Given the description of an element on the screen output the (x, y) to click on. 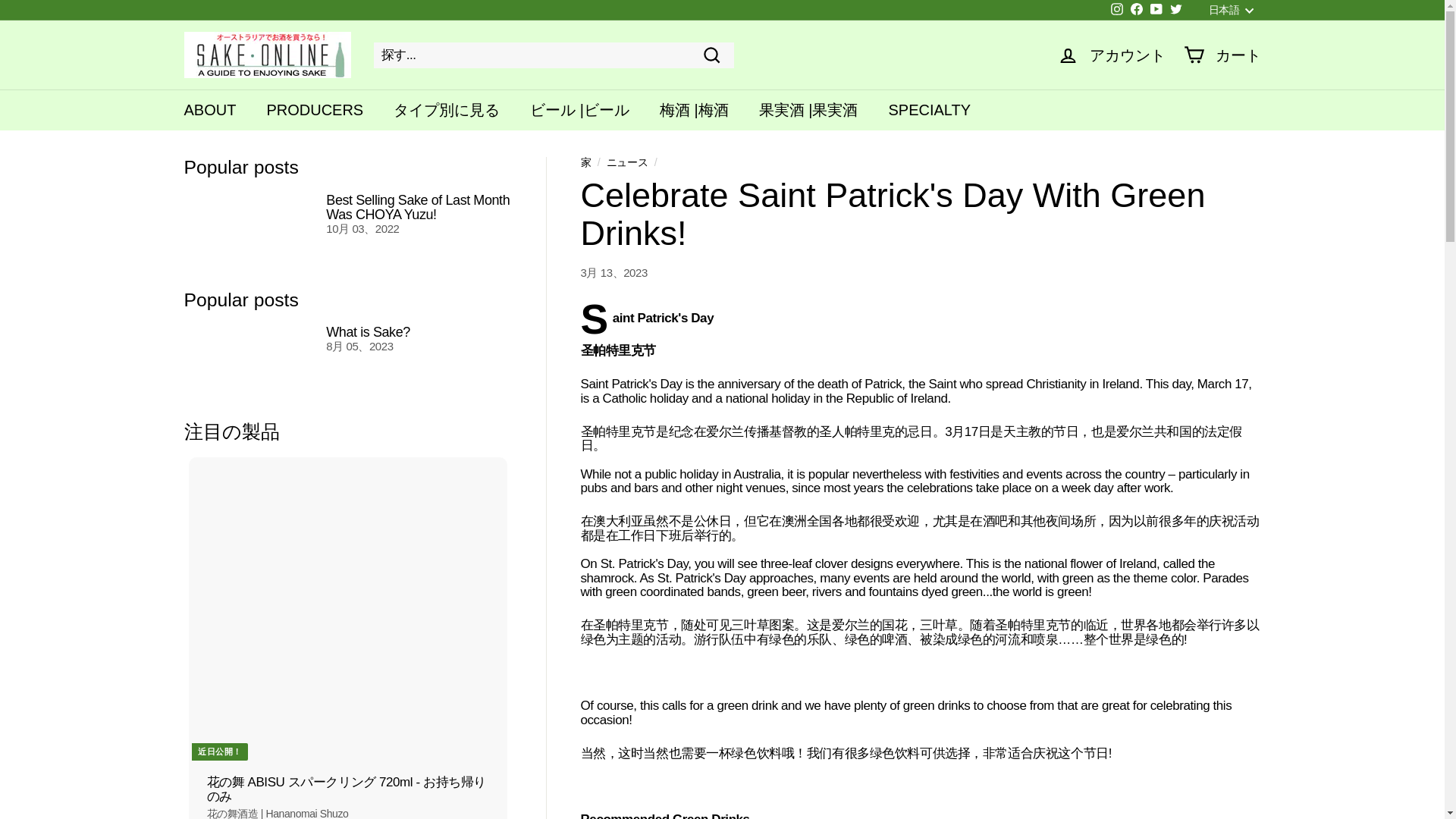
ABOUT (209, 109)
Twitter (1176, 10)
YouTube (1156, 10)
PRODUCERS (314, 109)
Facebook (1136, 10)
Instagram (1116, 10)
